Given the description of an element on the screen output the (x, y) to click on. 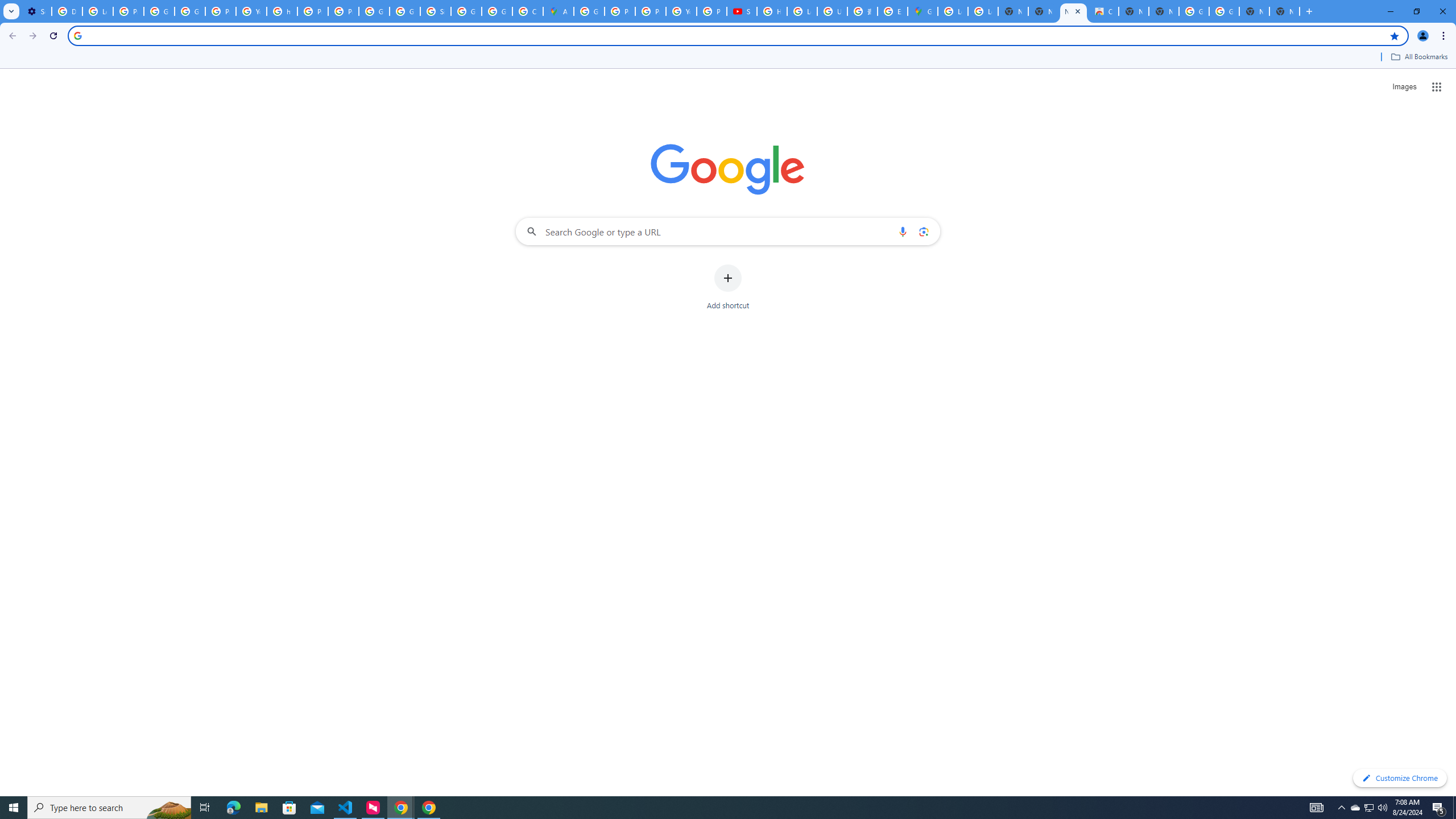
Search for Images  (1403, 87)
Search by voice (902, 230)
Google Account Help (189, 11)
Bookmarks (728, 58)
Privacy Help Center - Policies Help (619, 11)
Google Maps (922, 11)
Learn how to find your photos - Google Photos Help (97, 11)
New Tab (1283, 11)
YouTube (251, 11)
